Given the description of an element on the screen output the (x, y) to click on. 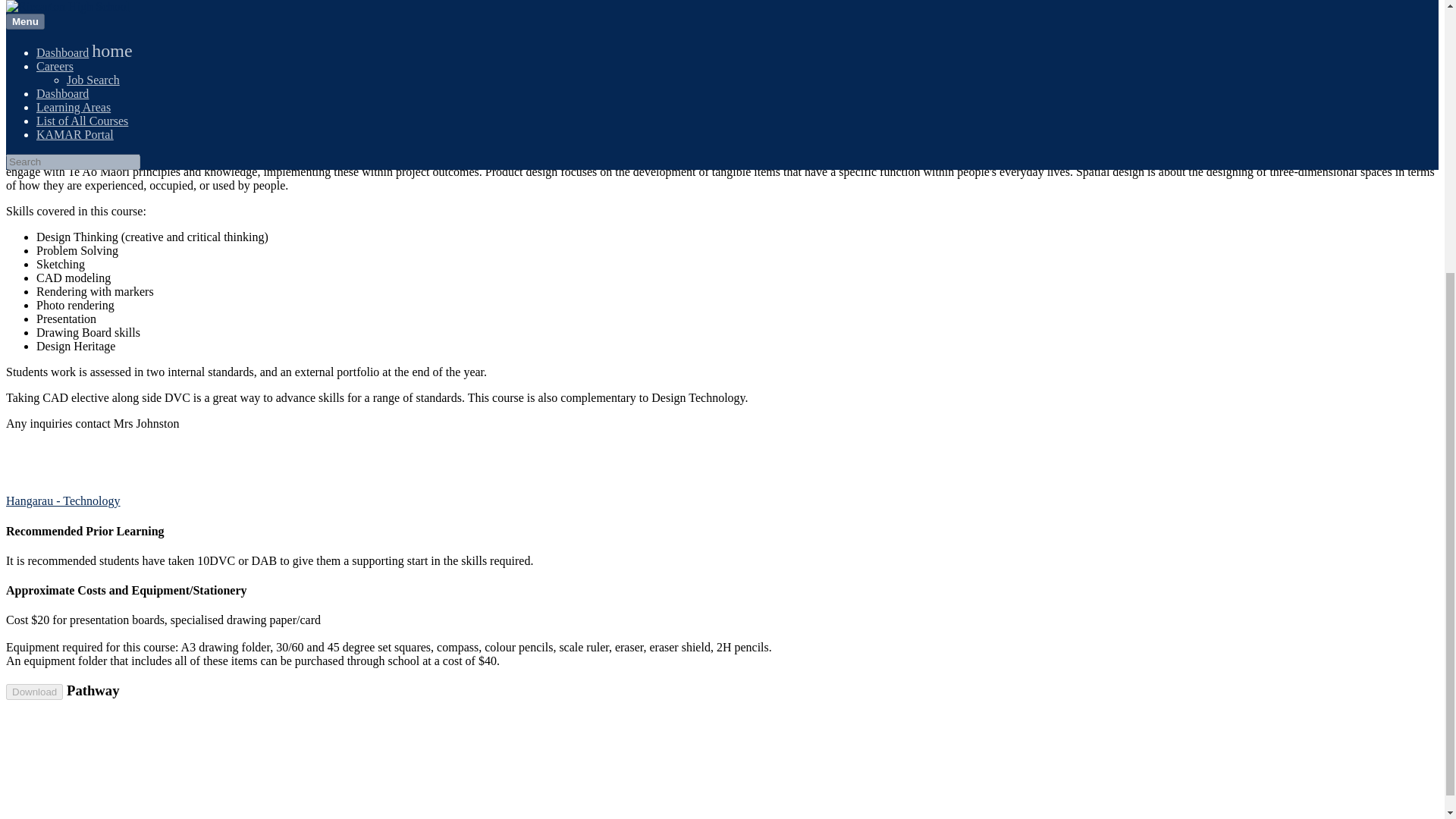
Mrs J. Johnston (147, 132)
Hangarau - Technology (62, 500)
Login to Select this Subject (72, 72)
Download (33, 691)
